Given the description of an element on the screen output the (x, y) to click on. 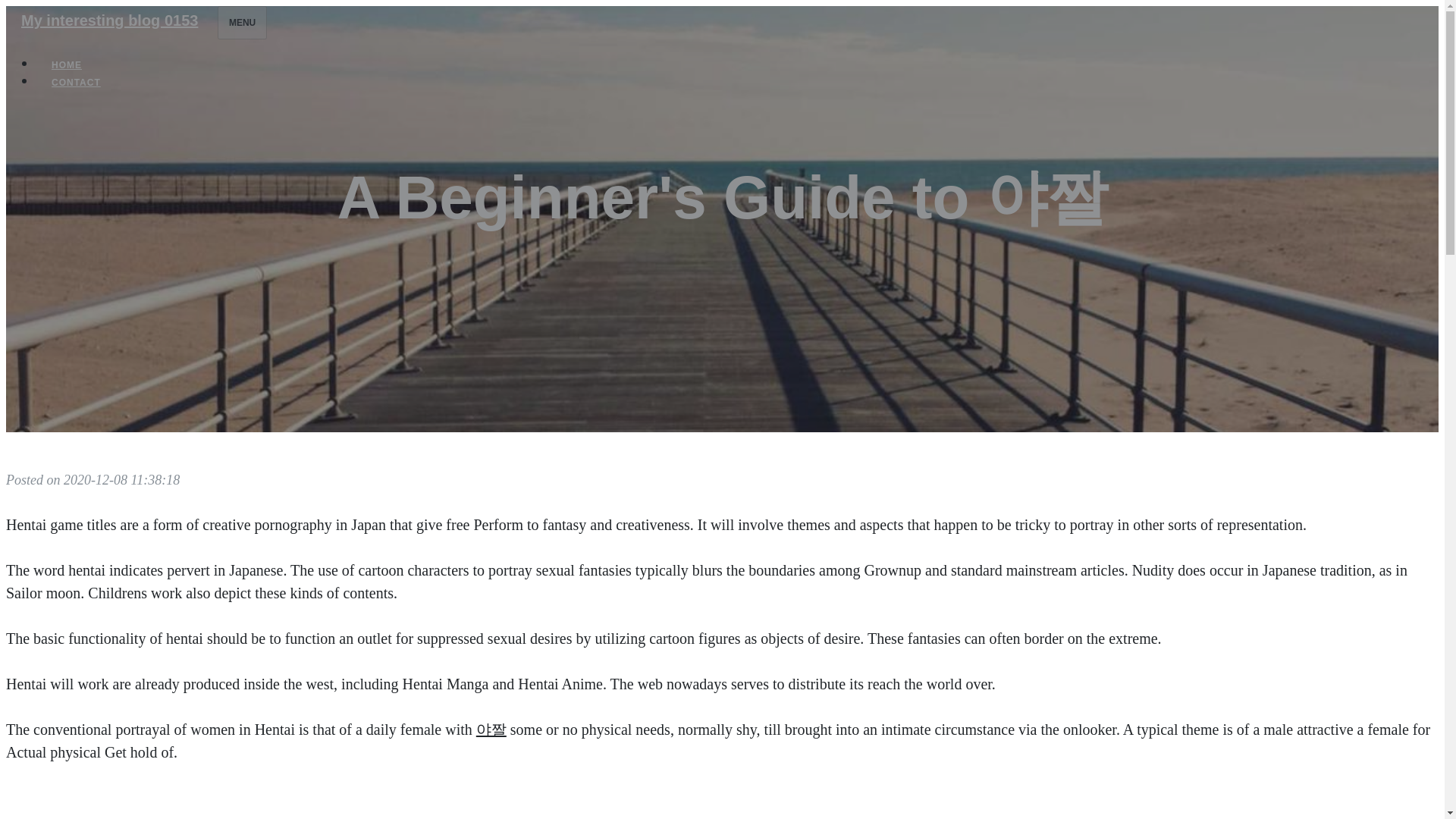
HOME (66, 64)
My interesting blog 0153 (108, 20)
MENU (241, 22)
CONTACT (76, 82)
